Given the description of an element on the screen output the (x, y) to click on. 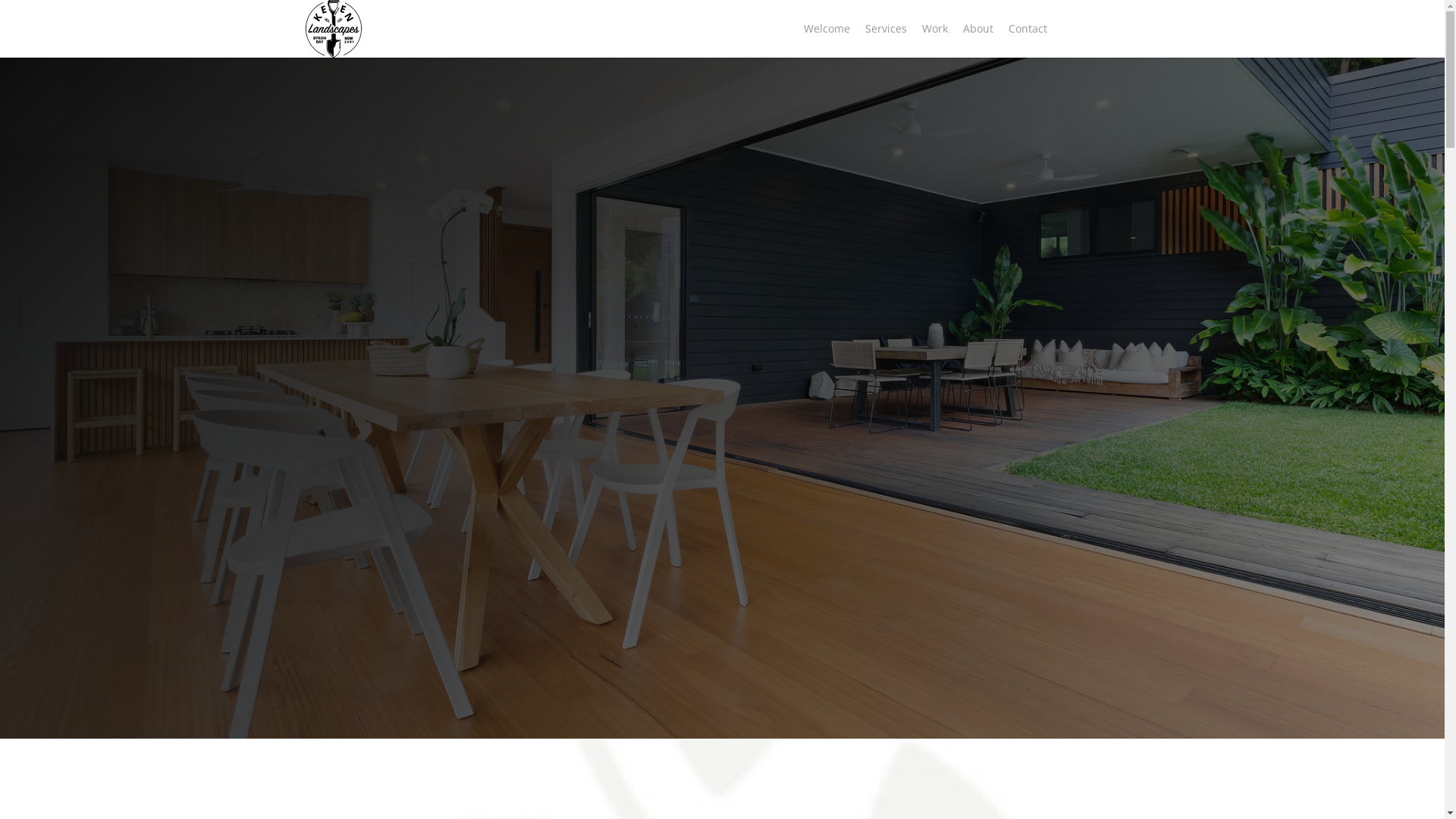
About Element type: text (978, 28)
Welcome Element type: text (826, 28)
Contact Element type: text (1027, 28)
Services Element type: text (884, 28)
Work Element type: text (934, 28)
Get Quote! Element type: text (1096, 28)
